Given the description of an element on the screen output the (x, y) to click on. 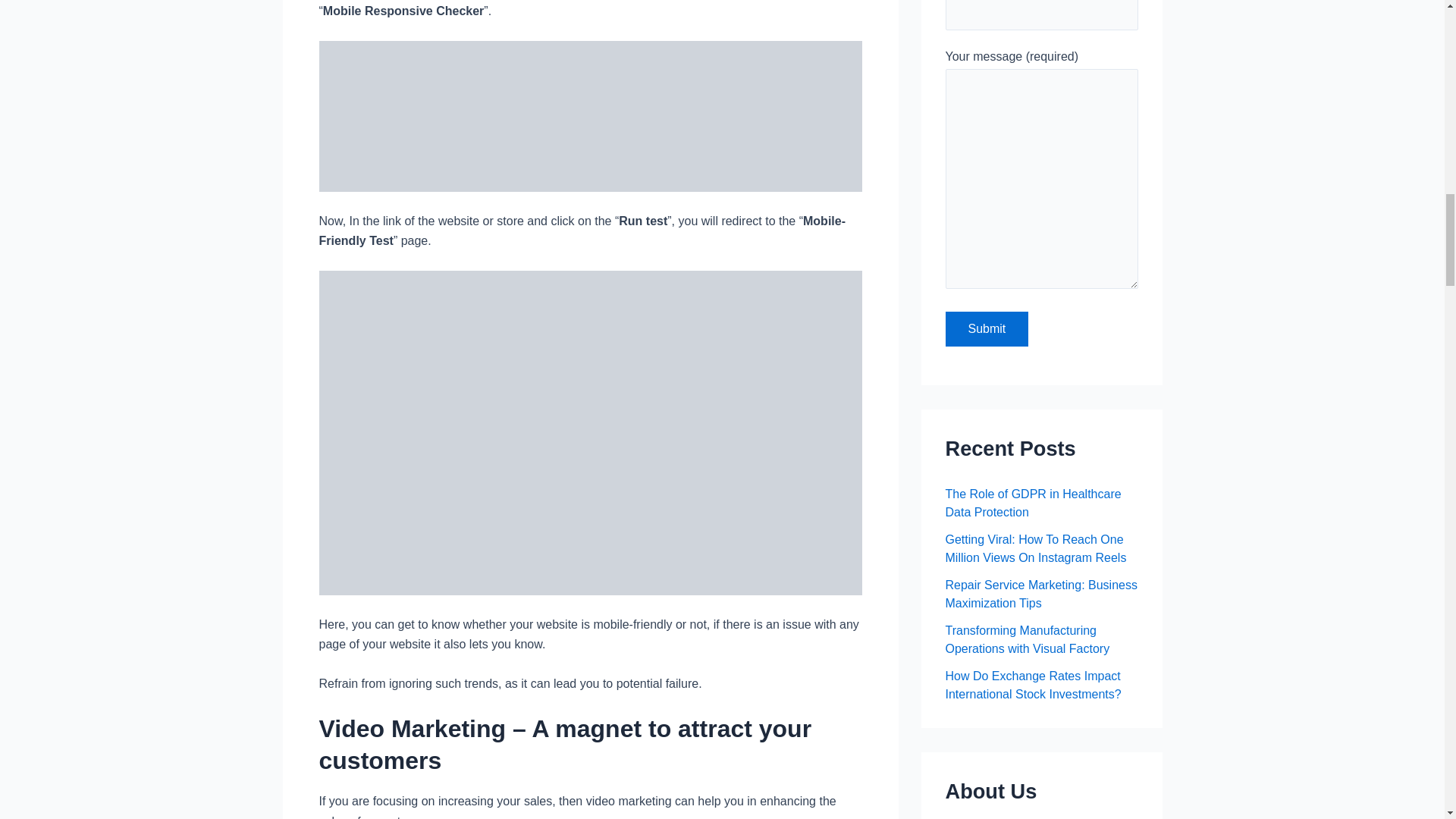
Submit (985, 329)
